Given the description of an element on the screen output the (x, y) to click on. 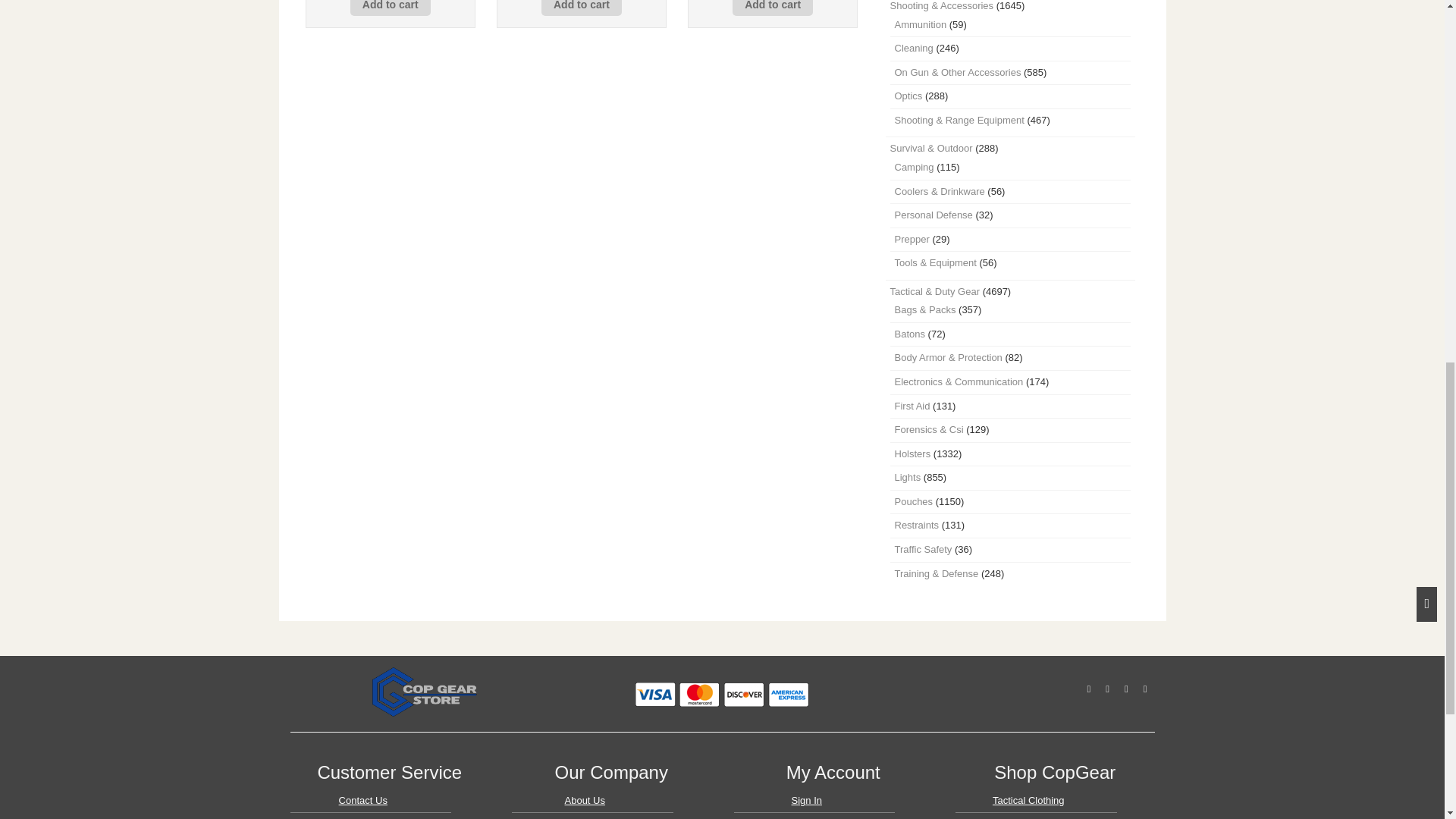
Add to cart (390, 7)
Add to cart (581, 7)
